Given the description of an element on the screen output the (x, y) to click on. 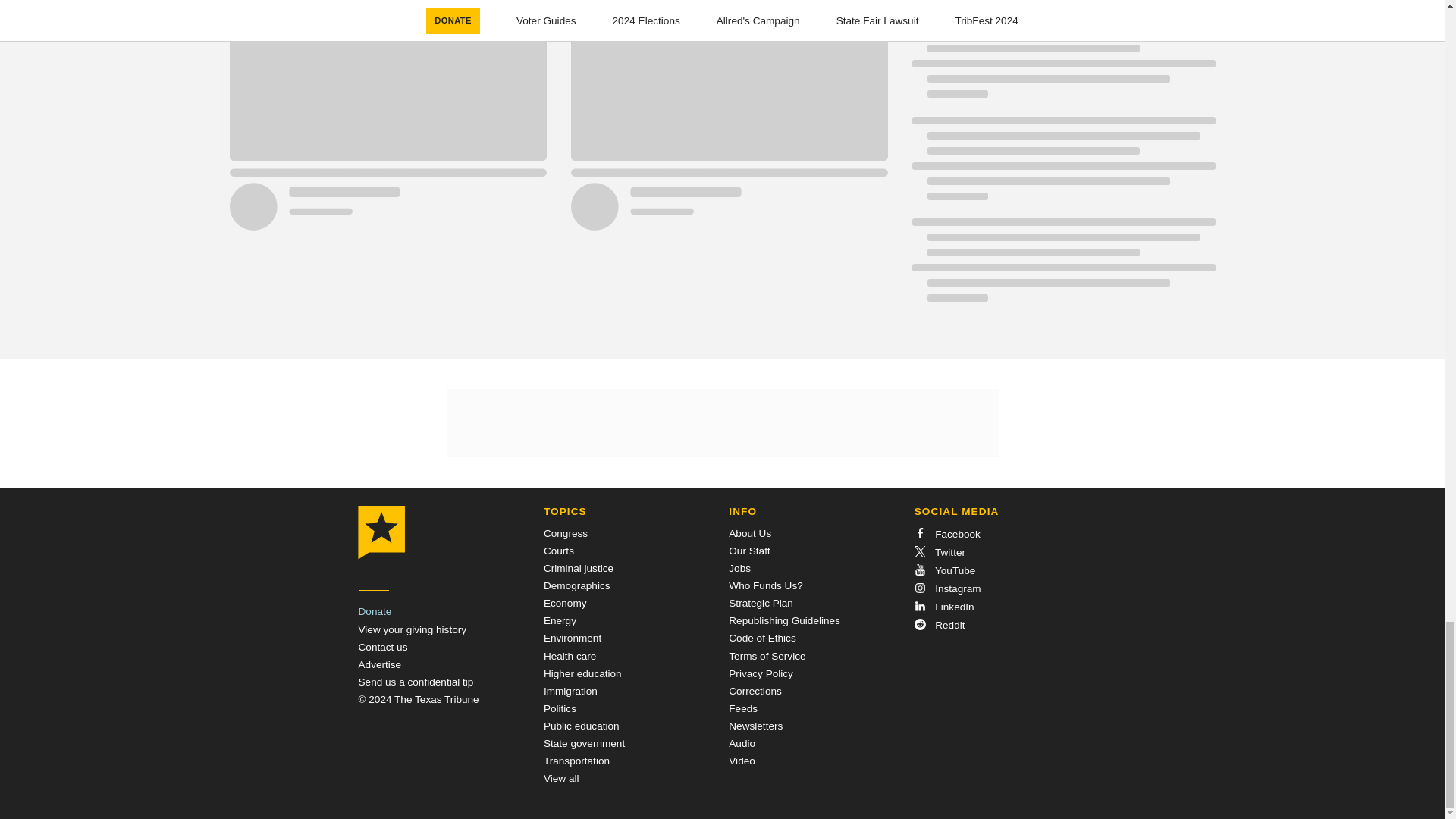
About Us (750, 532)
Loading indicator (1062, 63)
Loading indicator (1062, 267)
Send a Tip (415, 681)
Terms of Service (767, 655)
View your giving history (411, 628)
Corrections (755, 690)
Strategic Plan (761, 603)
Facebook (946, 533)
Advertise (379, 664)
